Given the description of an element on the screen output the (x, y) to click on. 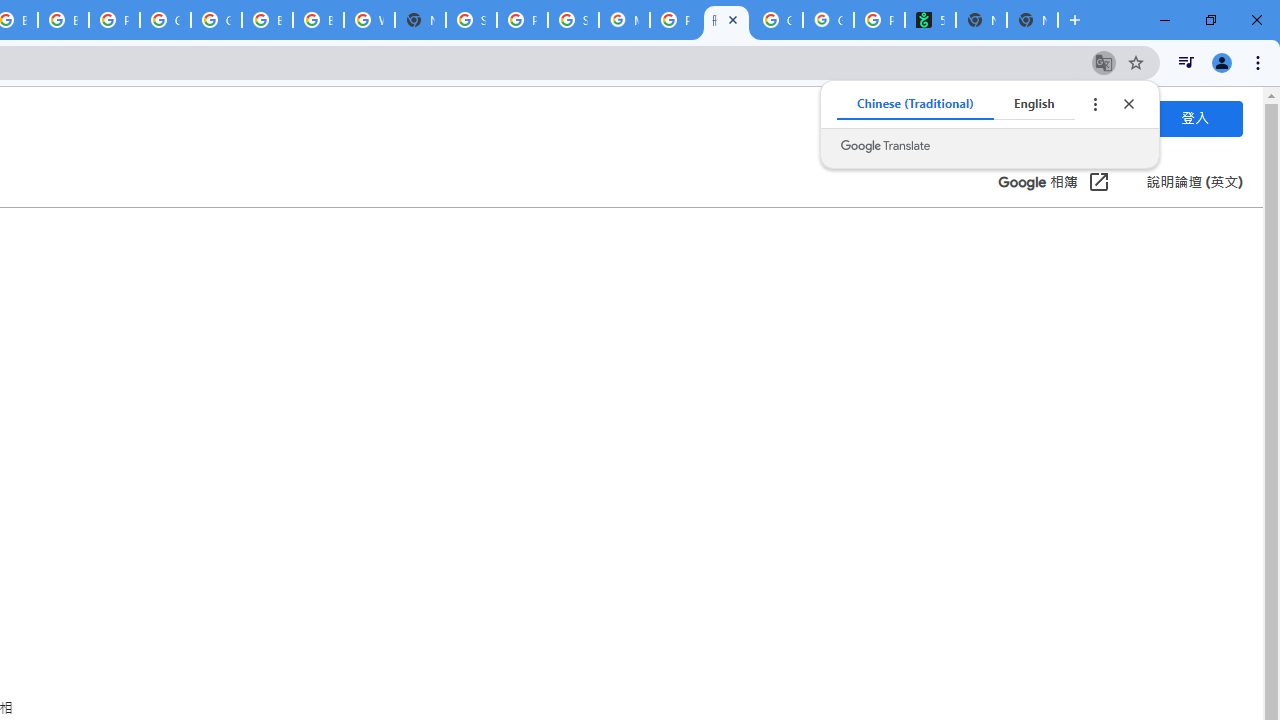
Translate options (1094, 103)
Sign in - Google Accounts (470, 20)
New Tab (420, 20)
Translate this page (1103, 62)
Browse Chrome as a guest - Computer - Google Chrome Help (63, 20)
